Given the description of an element on the screen output the (x, y) to click on. 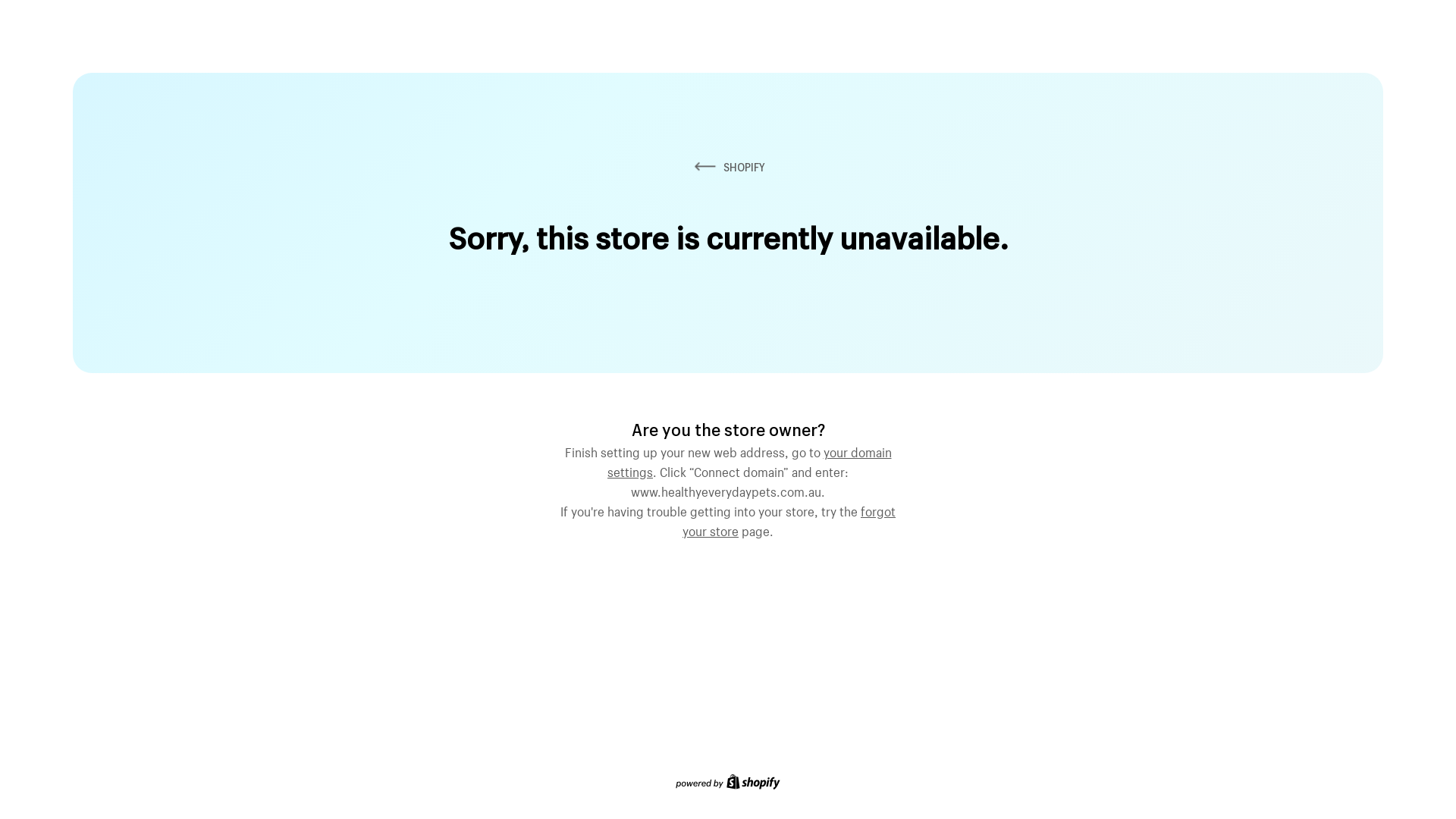
SHOPIFY Element type: text (727, 167)
forgot your store Element type: text (788, 519)
your domain settings Element type: text (749, 460)
